Given the description of an element on the screen output the (x, y) to click on. 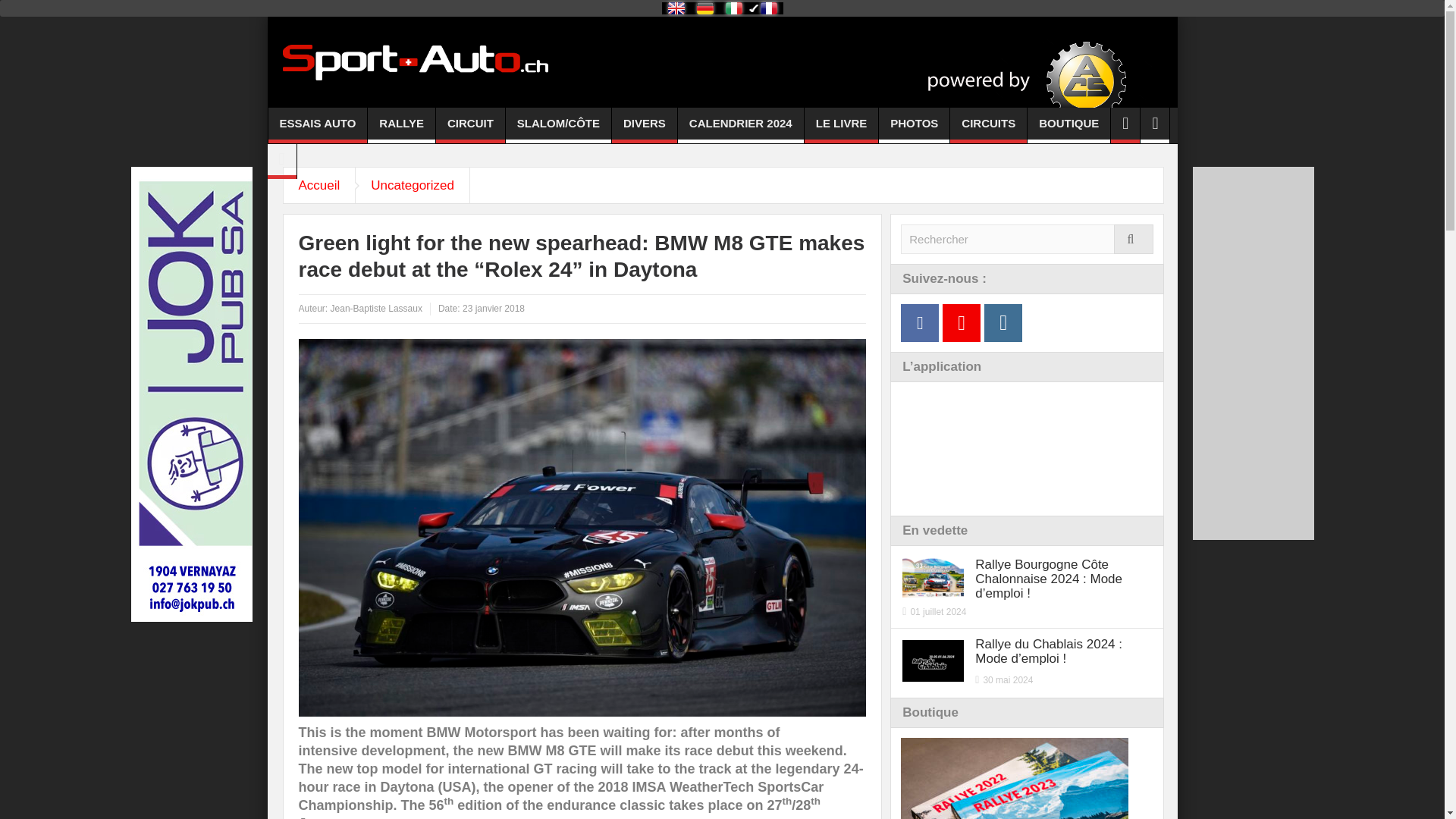
RALLYE (401, 125)
Rechercher (1027, 238)
Sport-Auto.ch (414, 61)
English (675, 8)
Uncategorized (412, 185)
Rechercher (1027, 238)
Deutsch (704, 8)
Italiano (733, 8)
ESSAIS AUTO (317, 125)
